Given the description of an element on the screen output the (x, y) to click on. 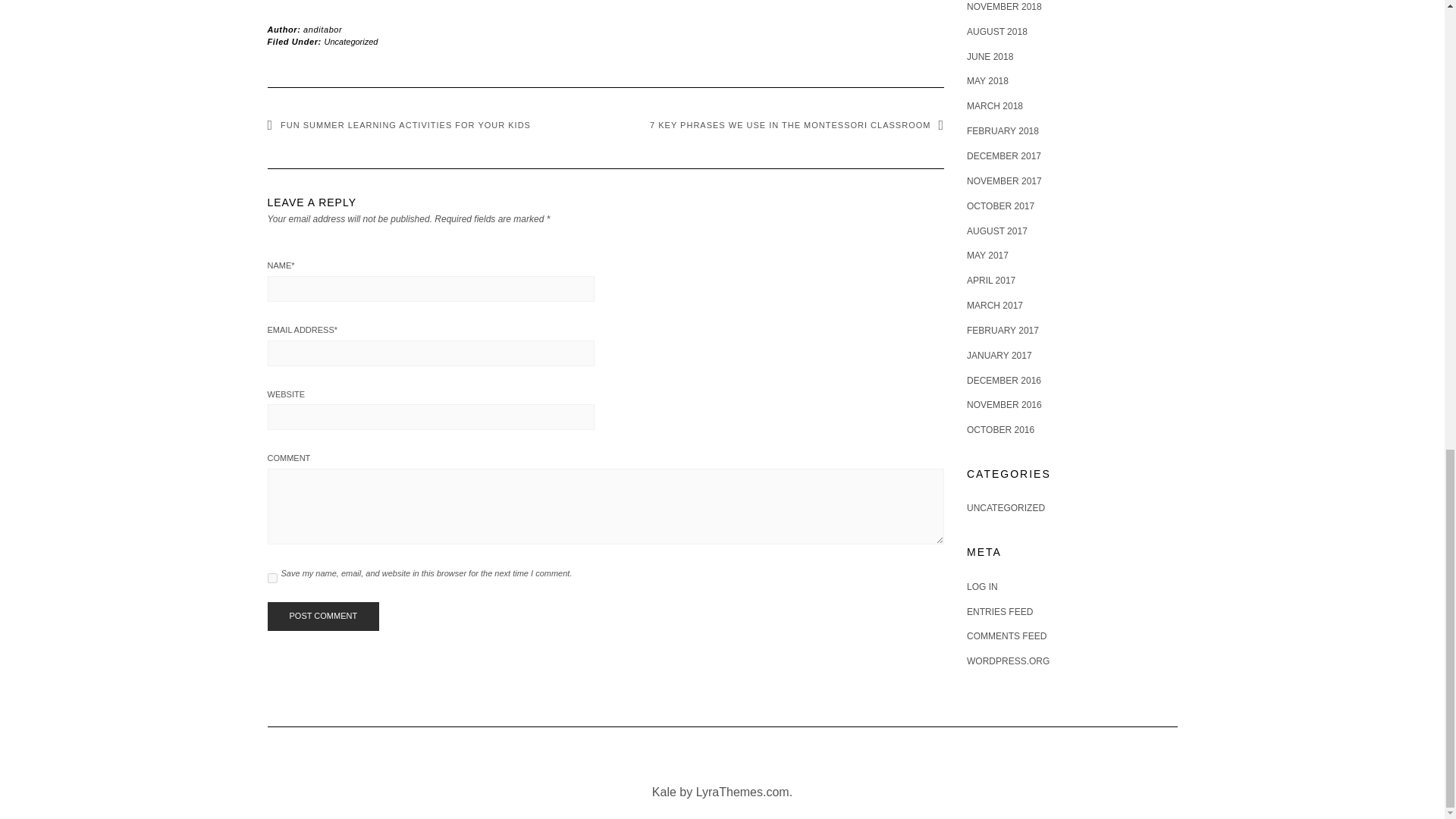
yes (271, 578)
Post Comment (322, 615)
7 KEY PHRASES WE USE IN THE MONTESSORI CLASSROOM (796, 124)
Post Comment (322, 615)
FUN SUMMER LEARNING ACTIVITIES FOR YOUR KIDS (397, 124)
anditabor (322, 29)
Posts by anditabor (322, 29)
Uncategorized (351, 40)
